Given the description of an element on the screen output the (x, y) to click on. 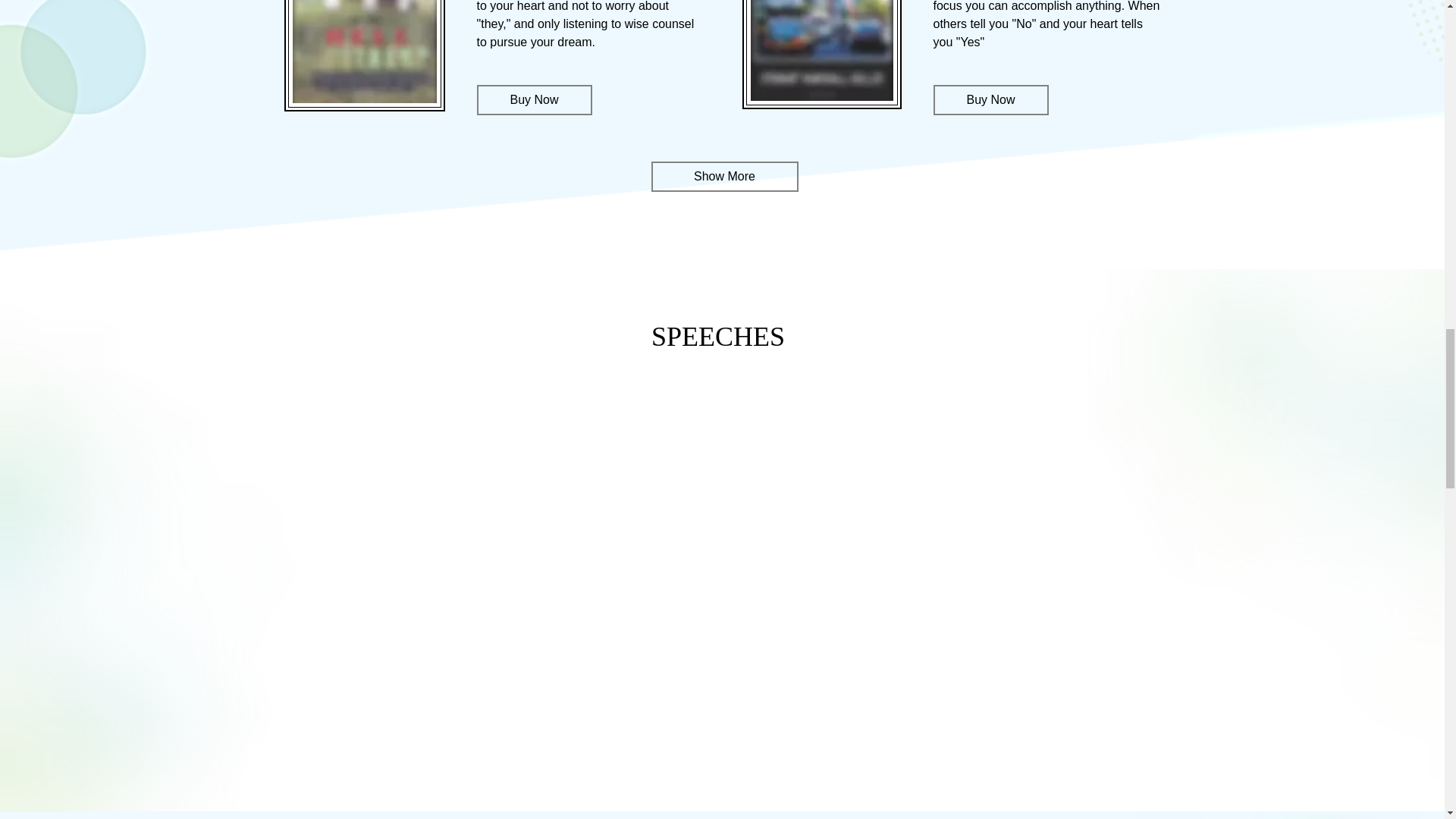
Buy Now (990, 100)
Show More (723, 176)
Buy Now (533, 100)
